Given the description of an element on the screen output the (x, y) to click on. 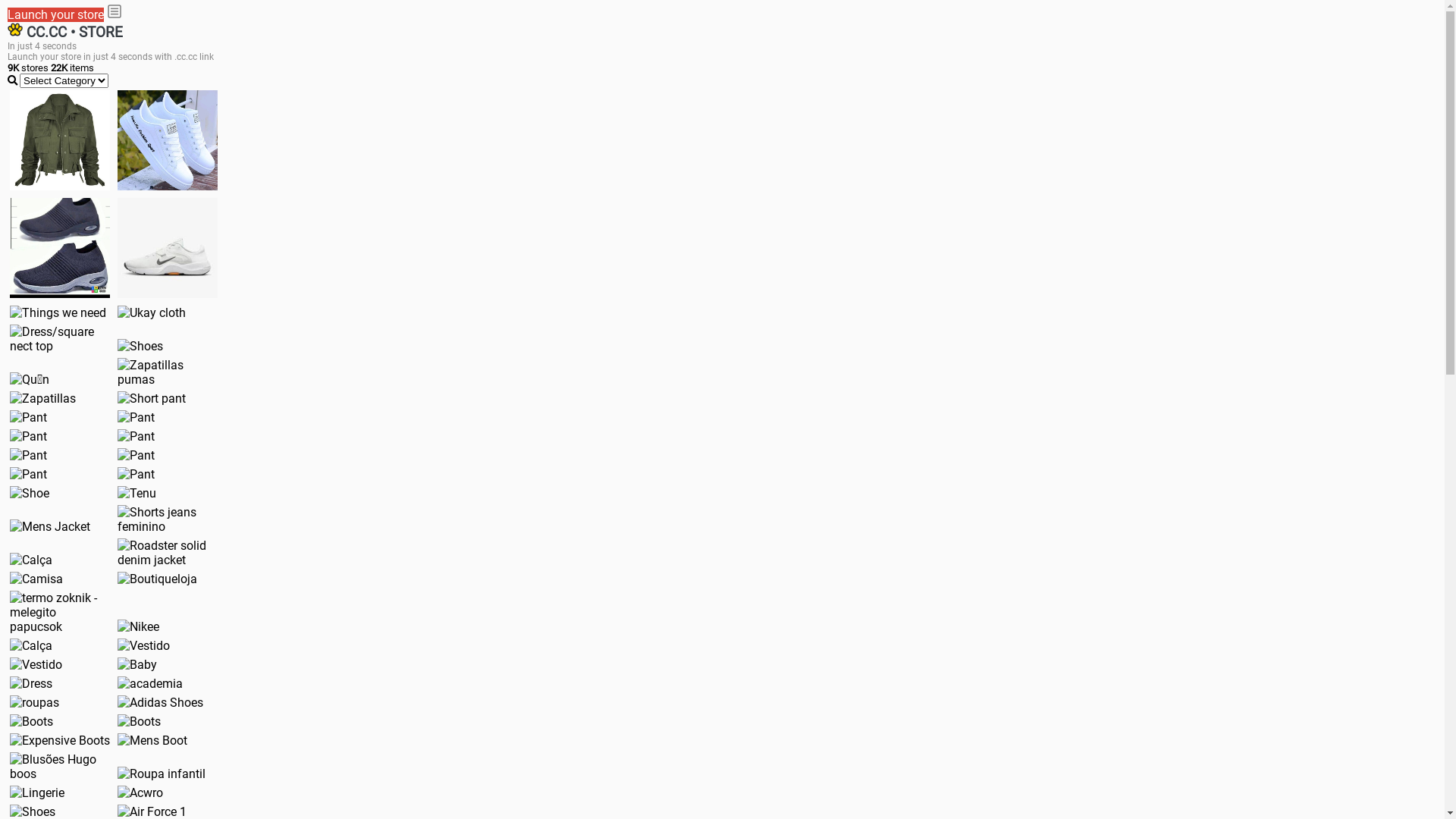
academia Element type: hover (149, 683)
Pant Element type: hover (28, 455)
Pant Element type: hover (28, 417)
Expensive Boots Element type: hover (59, 740)
Roupa infantil Element type: hover (161, 773)
Mens Jacket Element type: hover (49, 526)
Dress/square nect top Element type: hover (59, 338)
roupas Element type: hover (34, 702)
Things we need Element type: hover (57, 312)
Vestido Element type: hover (143, 645)
Vestido Element type: hover (35, 664)
Boots Element type: hover (138, 721)
Shoes for boys Element type: hover (167, 247)
Boots Element type: hover (31, 721)
Mens Boot Element type: hover (152, 740)
Zapatillas Element type: hover (42, 398)
Camisa Element type: hover (35, 578)
Pant Element type: hover (135, 455)
Ukay cloth Element type: hover (151, 312)
Pant Element type: hover (135, 417)
Dress Element type: hover (30, 683)
Shorts jeans feminino Element type: hover (167, 519)
Roadster solid denim jacket Element type: hover (167, 552)
Boutiqueloja Element type: hover (157, 578)
Pant Element type: hover (135, 474)
Zapatillas pumas Element type: hover (167, 371)
Short pant Element type: hover (151, 398)
Launch your store Element type: text (55, 14)
shoes for boys Element type: hover (59, 247)
Lingerie Element type: hover (36, 792)
Baby Element type: hover (136, 664)
Pant Element type: hover (135, 436)
Acwro Element type: hover (140, 792)
Adidas Shoes Element type: hover (160, 702)
Shoe Element type: hover (29, 493)
Tenu Element type: hover (136, 493)
Pant Element type: hover (28, 474)
termo zoknik - melegito papucsok Element type: hover (59, 611)
white shoes Element type: hover (167, 140)
Pant Element type: hover (28, 436)
Nikee Element type: hover (138, 626)
Shoes Element type: hover (140, 345)
jacket Element type: hover (59, 140)
